Given the description of an element on the screen output the (x, y) to click on. 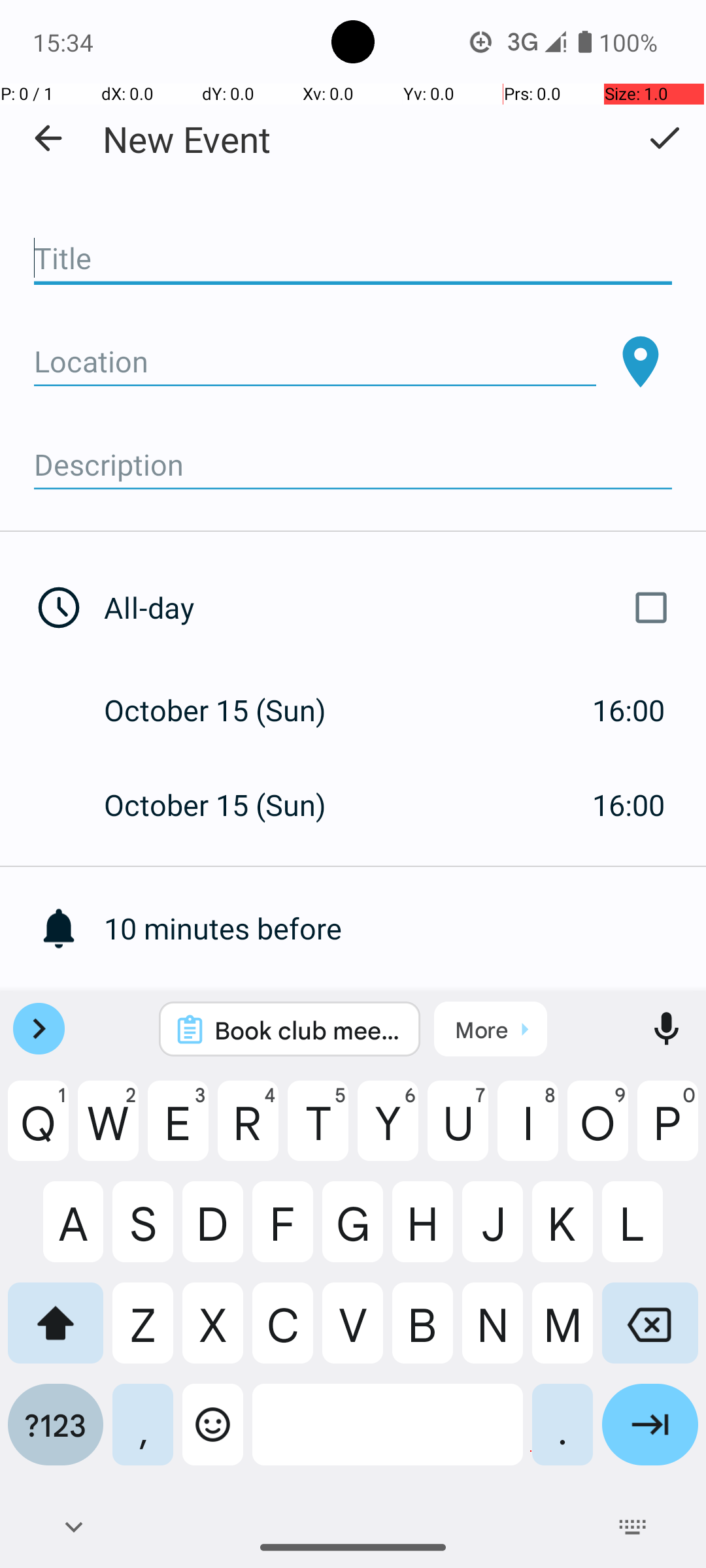
Location Element type: android.widget.EditText (314, 361)
October 15 (Sun) Element type: android.widget.TextView (228, 709)
16:00 Element type: android.widget.TextView (628, 709)
10 minutes before Element type: android.widget.TextView (404, 927)
Add another reminder Element type: android.widget.TextView (404, 1022)
All-day Element type: android.widget.CheckBox (390, 607)
Book club meets next Tuesday to discuss '1984'. Element type: android.widget.TextView (306, 1029)
